Given the description of an element on the screen output the (x, y) to click on. 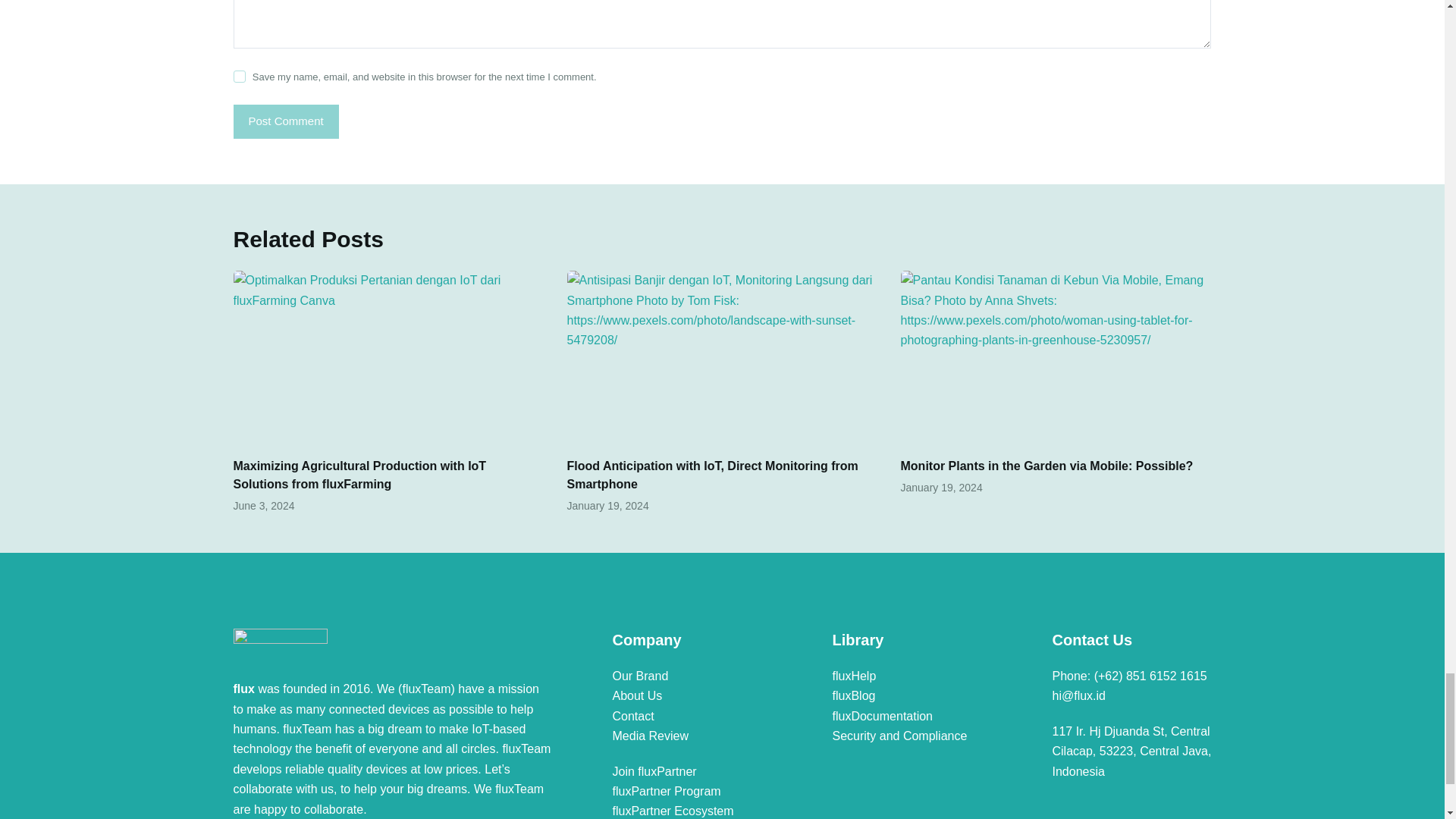
yes (239, 76)
